Given the description of an element on the screen output the (x, y) to click on. 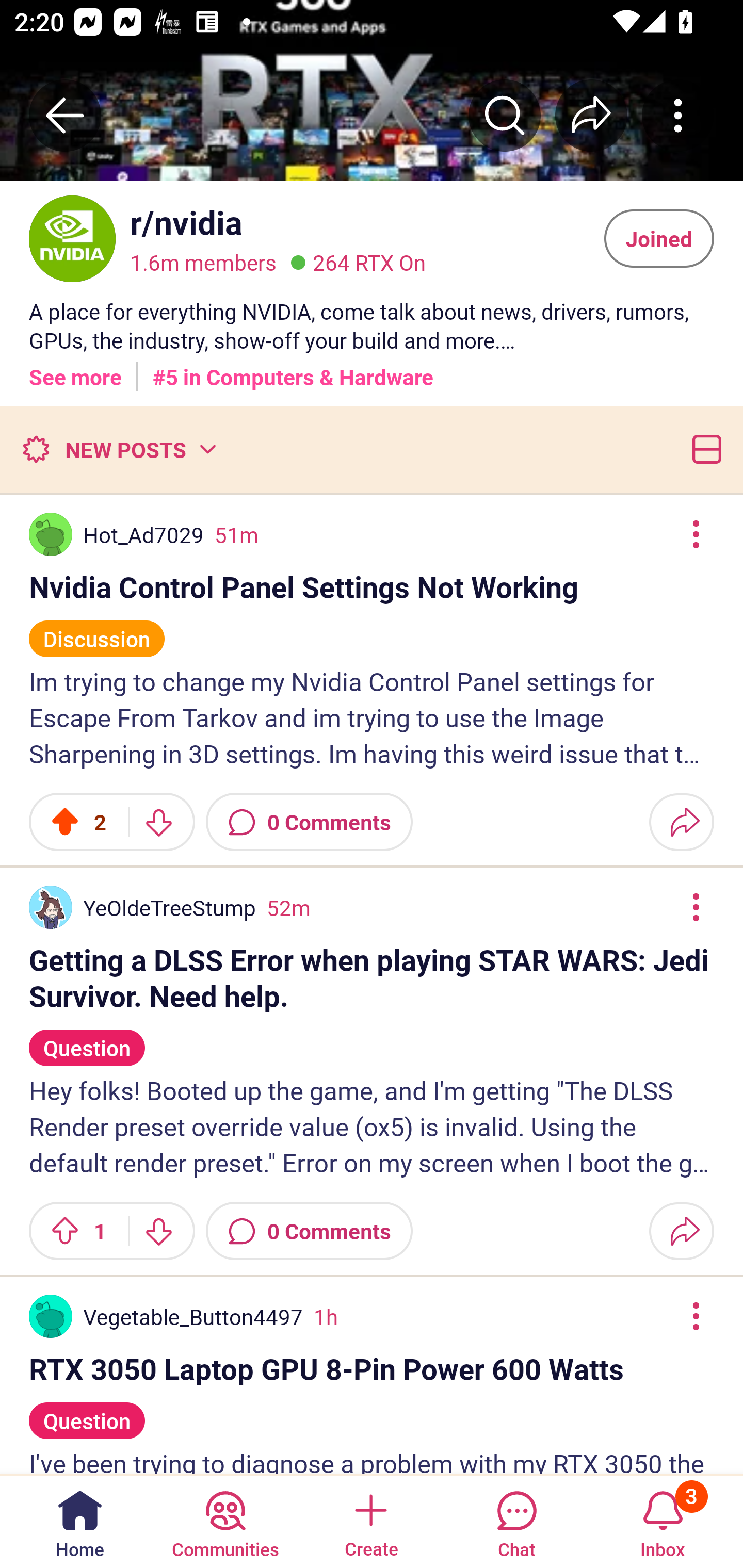
Back (64, 115)
Search r/﻿nvidia (504, 115)
Share r/﻿nvidia (591, 115)
More community actions (677, 115)
New posts NEW POSTS (118, 449)
Card (703, 449)
Discussion (96, 629)
Question (86, 1039)
Question (86, 1411)
Home (80, 1520)
Communities (225, 1520)
Create a post Create (370, 1520)
Chat (516, 1520)
Inbox, has 3 notifications 3 Inbox (662, 1520)
